Given the description of an element on the screen output the (x, y) to click on. 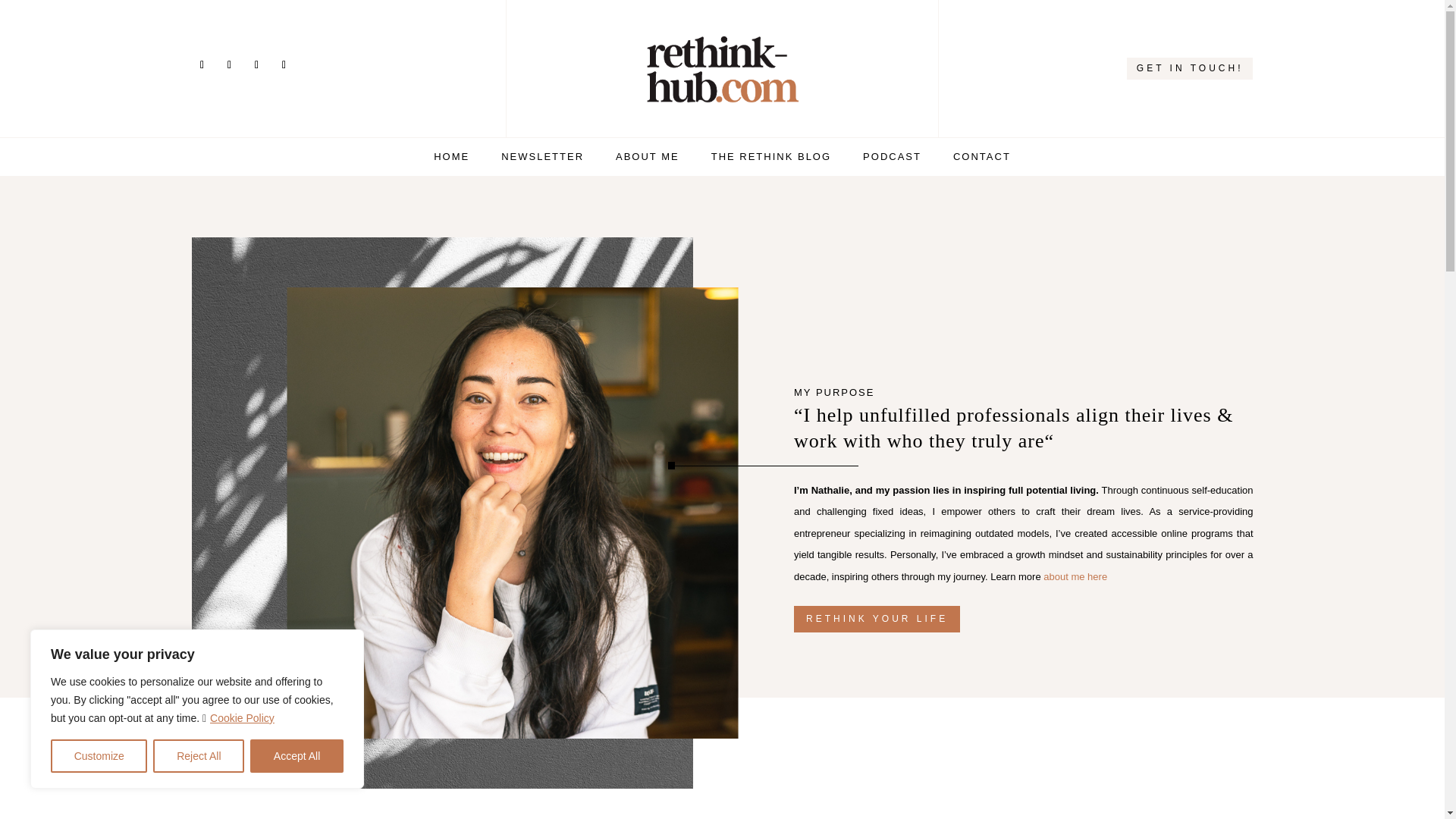
Customize (98, 756)
NEWSLETTER (541, 159)
Follow on Youtube (256, 65)
Follow on TikTok (283, 65)
GET IN TOUCH! (1189, 68)
Follow on LinkedIn (229, 65)
ABOUT ME (647, 159)
Cookie Policy (242, 717)
HOME (450, 159)
Follow on Instagram (201, 65)
CONTACT (981, 159)
PODCAST (892, 159)
Accept All (296, 756)
Reject All (198, 756)
